Given the description of an element on the screen output the (x, y) to click on. 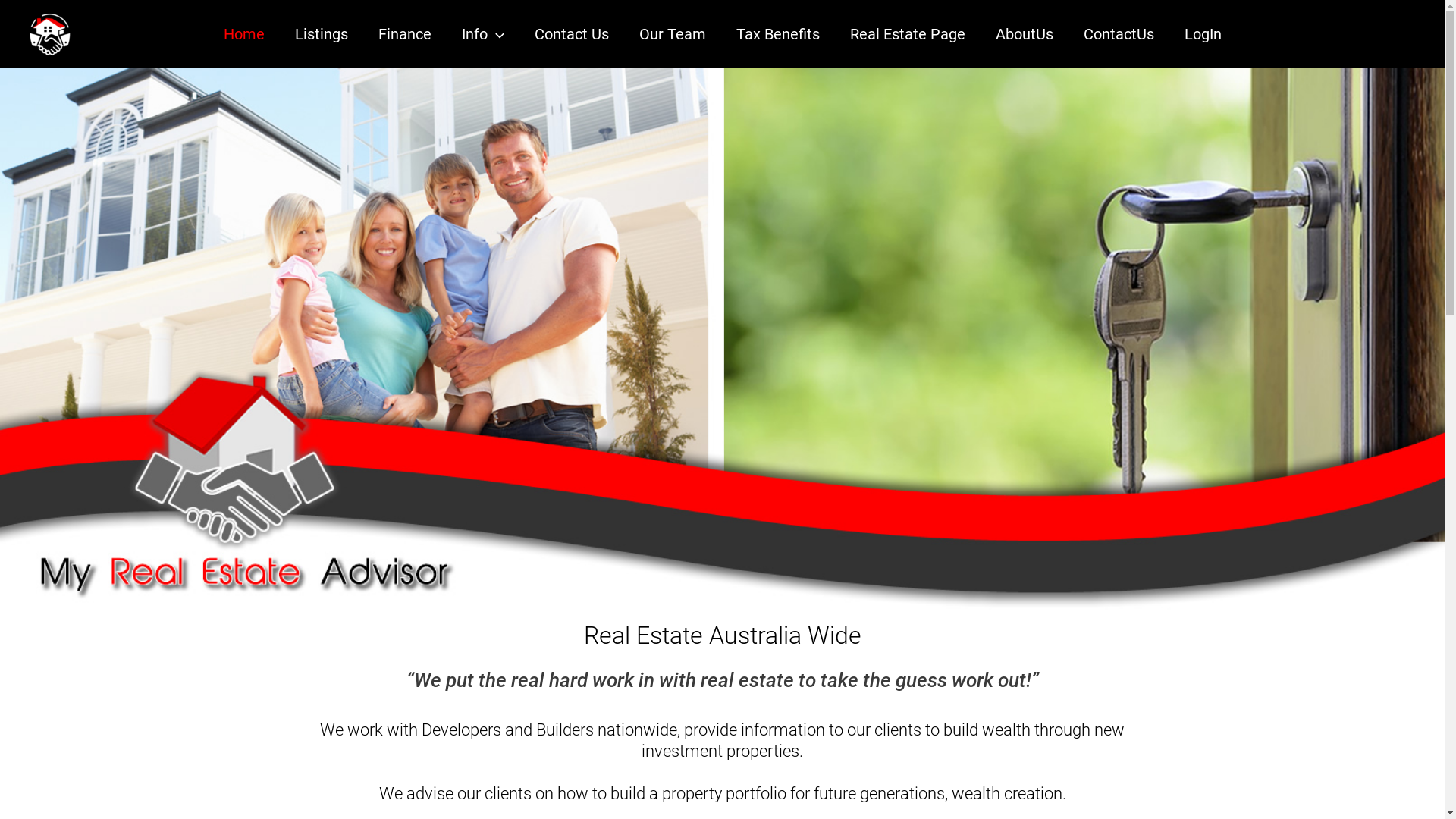
Our Team Element type: text (671, 33)
ContactUs Element type: text (1117, 33)
Contact Us Element type: text (570, 33)
LogIn Element type: text (1202, 33)
AboutUs Element type: text (1023, 33)
Tax Benefits Element type: text (777, 33)
Info Element type: text (481, 33)
Finance Element type: text (403, 33)
Real Estate Page Element type: text (906, 33)
Listings Element type: text (320, 33)
Home Element type: text (243, 33)
